Given the description of an element on the screen output the (x, y) to click on. 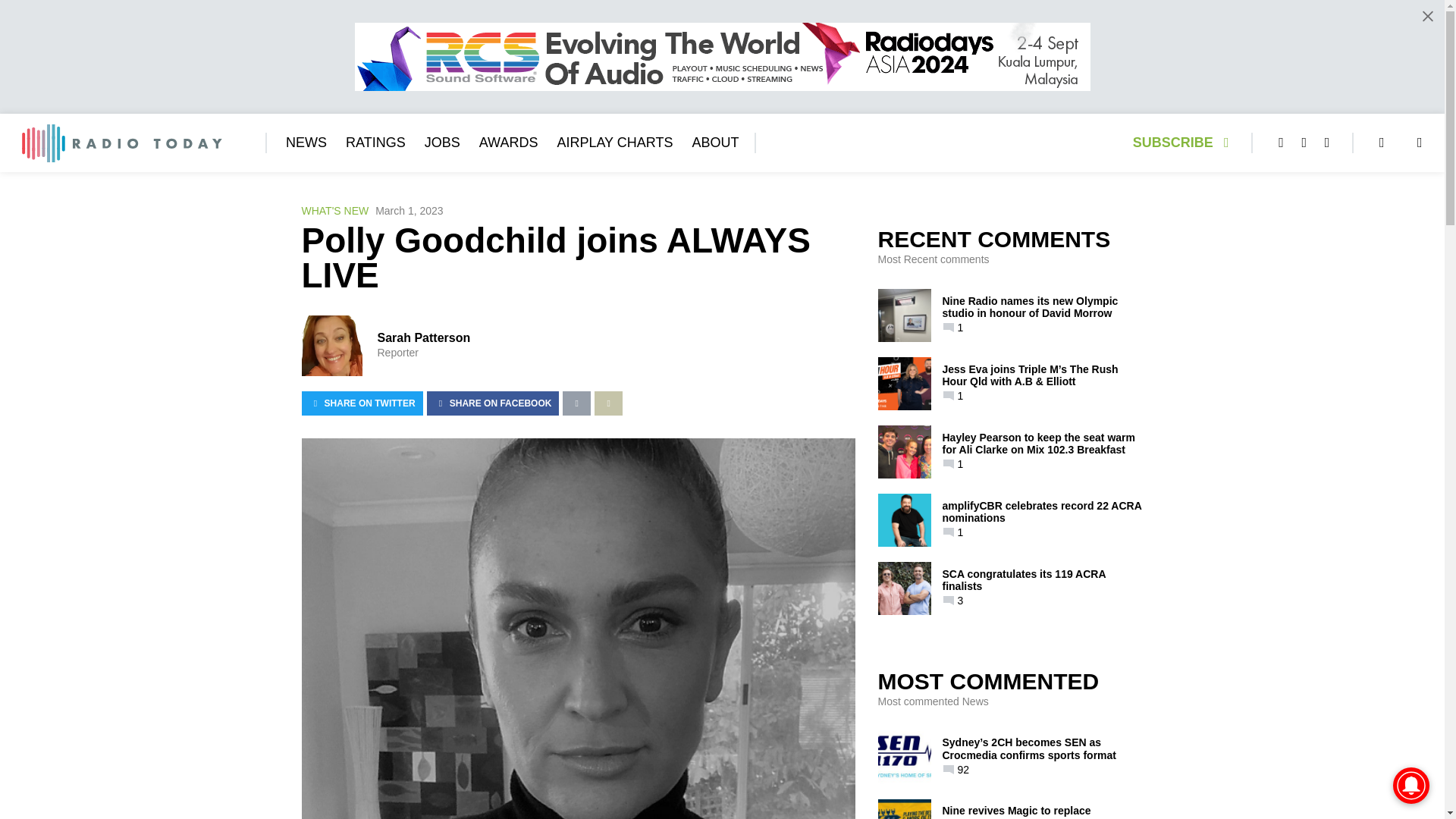
SHARE ON FACEBOOK (492, 403)
SUBSCRIBE (1184, 142)
WHAT'S NEW (335, 211)
AWARDS (508, 142)
NEWS (305, 142)
RATINGS (376, 142)
AIRPLAY CHARTS (614, 142)
ABOUT (714, 142)
JOBS (442, 142)
Sarah Patterson (423, 337)
Close (1427, 16)
SHARE ON TWITTER (362, 403)
